Given the description of an element on the screen output the (x, y) to click on. 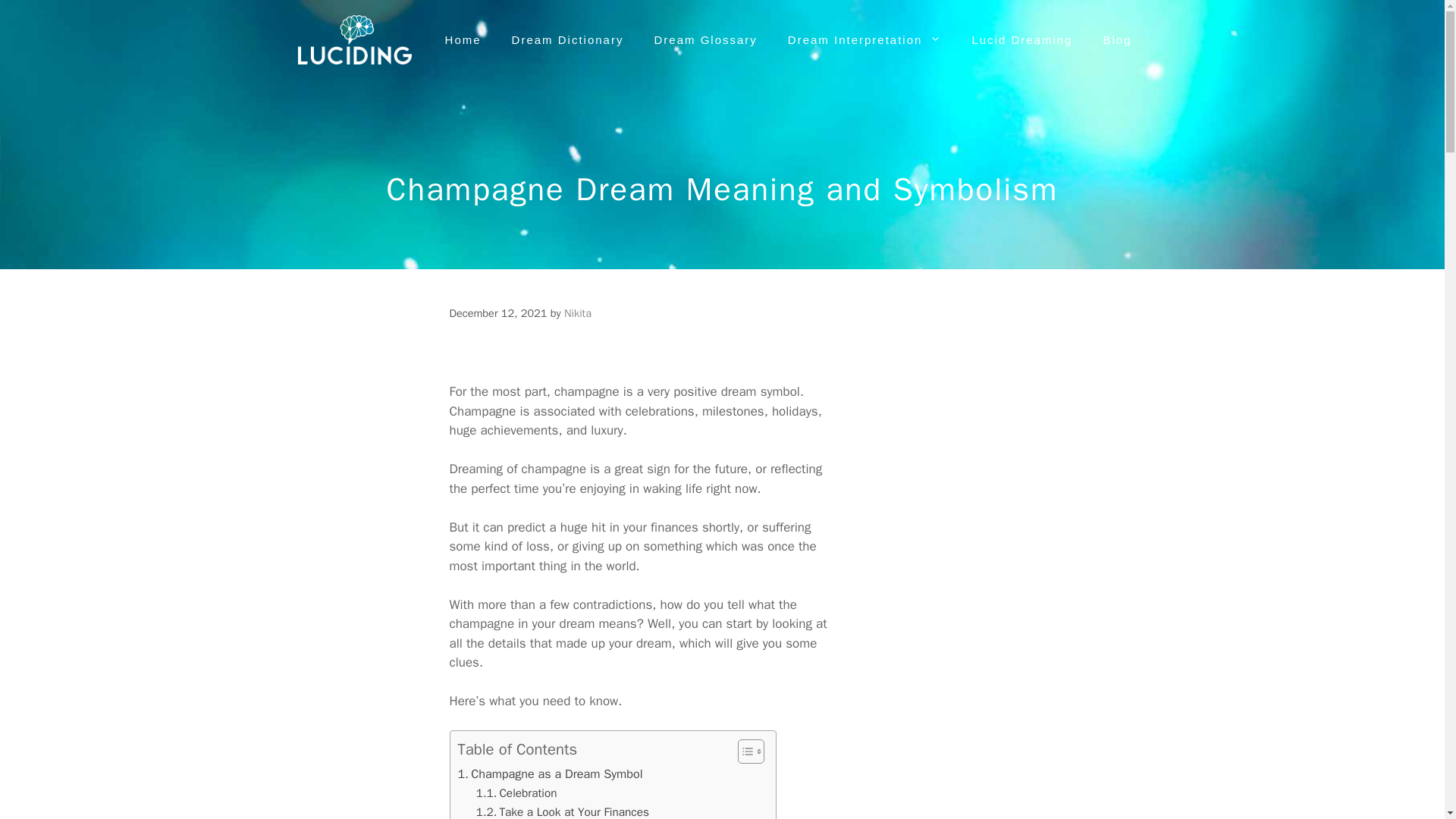
View all posts by Nikita (577, 313)
Home (462, 40)
Celebration (516, 793)
Blog (1117, 40)
Dream Glossary (705, 40)
Dream Interpretation (864, 40)
Take a Look at Your Finances (562, 811)
Dream Dictionary (567, 40)
